Given the description of an element on the screen output the (x, y) to click on. 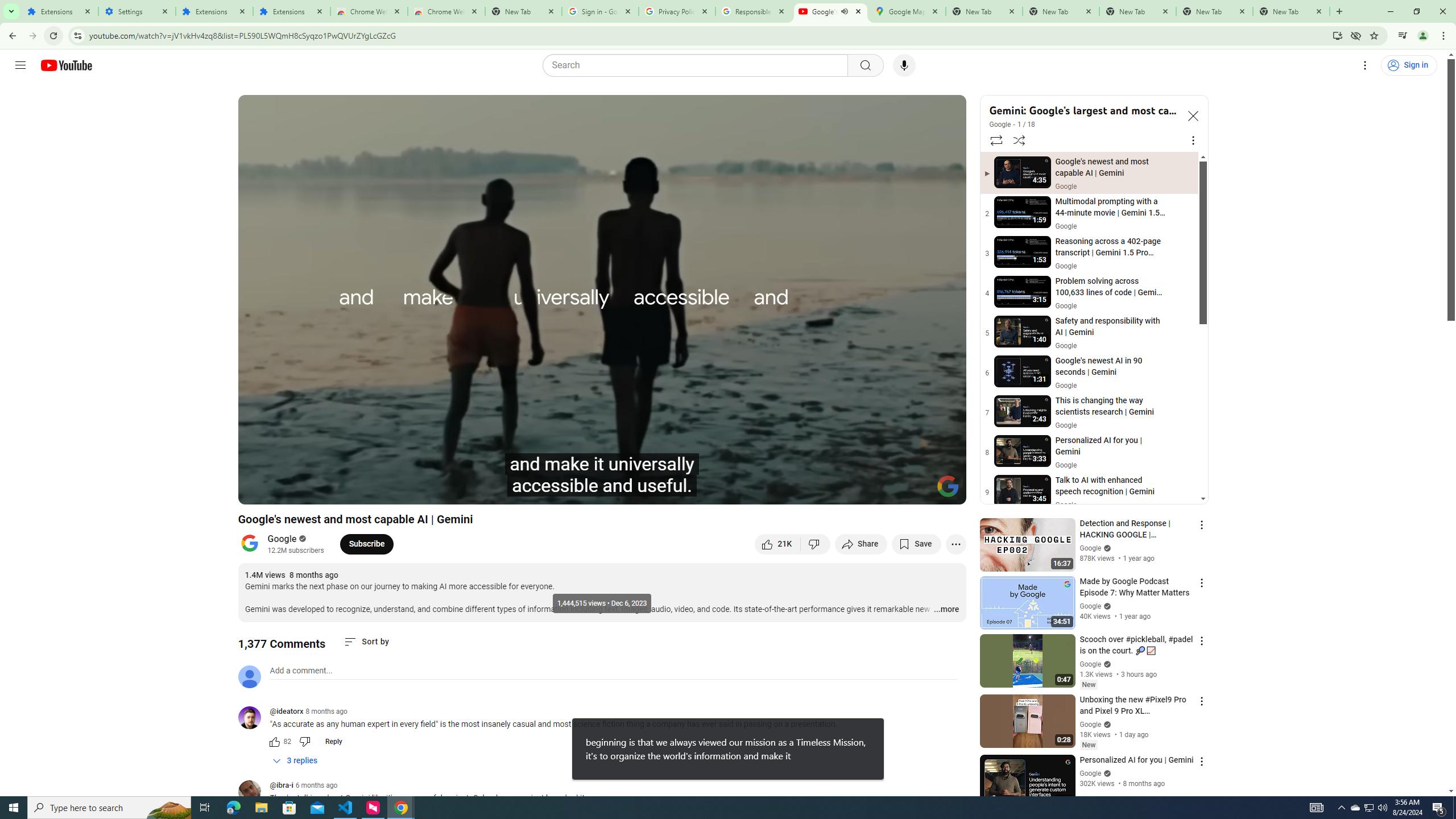
AutomationID: simplebox-placeholder (301, 670)
Full screen (f) (945, 490)
@ideatorx (286, 711)
Subscribe to Google. (366, 543)
